Given the description of an element on the screen output the (x, y) to click on. 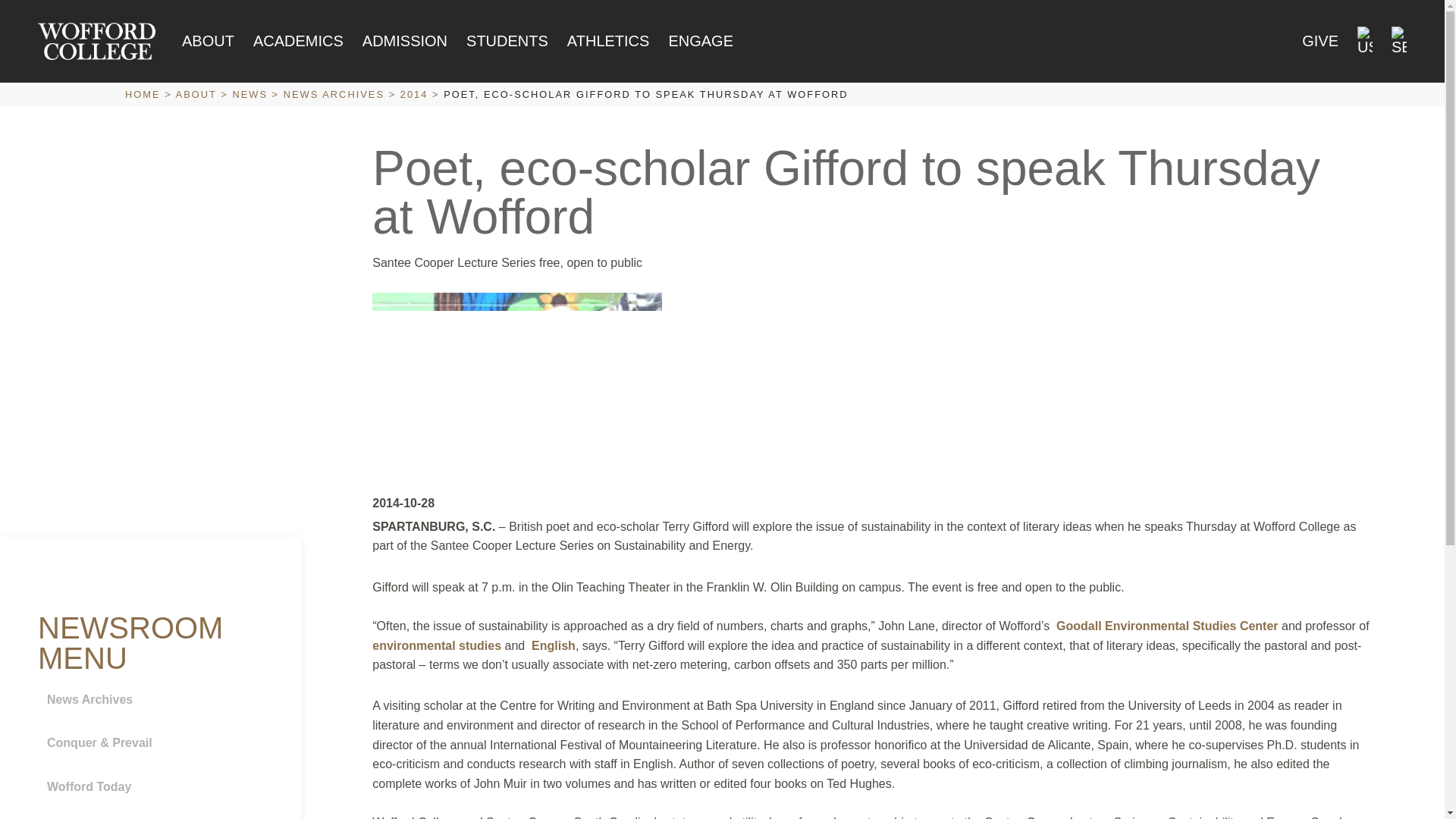
Give (1319, 41)
News Archives (154, 699)
environmental studies  (437, 644)
Wofford Today (154, 786)
ABOUT (207, 41)
Goodall Environmental Studies Center  (1169, 625)
Media Center (154, 815)
English (553, 644)
